Given the description of an element on the screen output the (x, y) to click on. 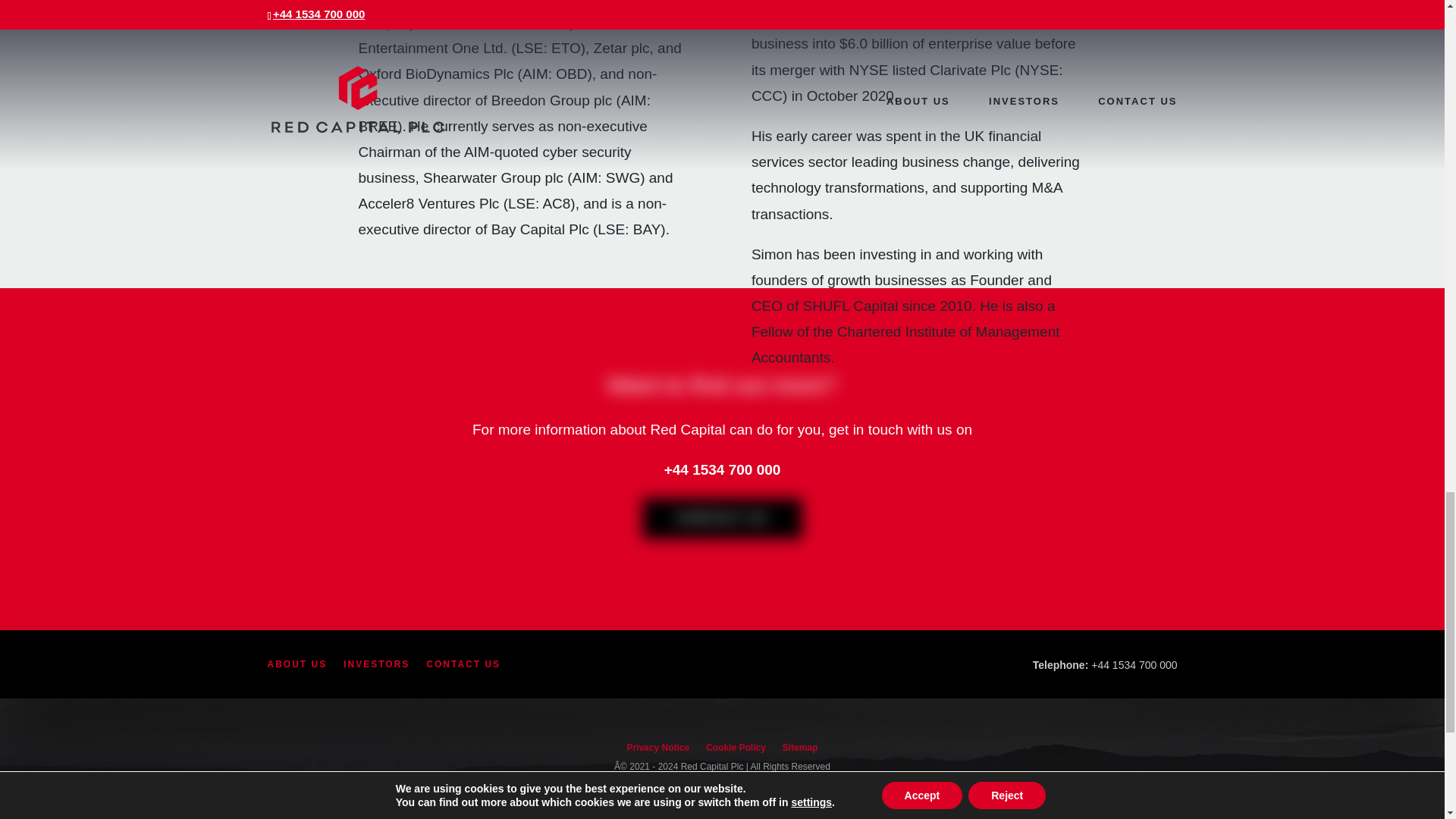
Cookie Policy (735, 750)
ABOUT US (296, 667)
CONTACT US (722, 517)
Sitemap (800, 750)
INVESTORS (376, 667)
CONTACT US (463, 667)
Privacy Notice (657, 750)
